Given the description of an element on the screen output the (x, y) to click on. 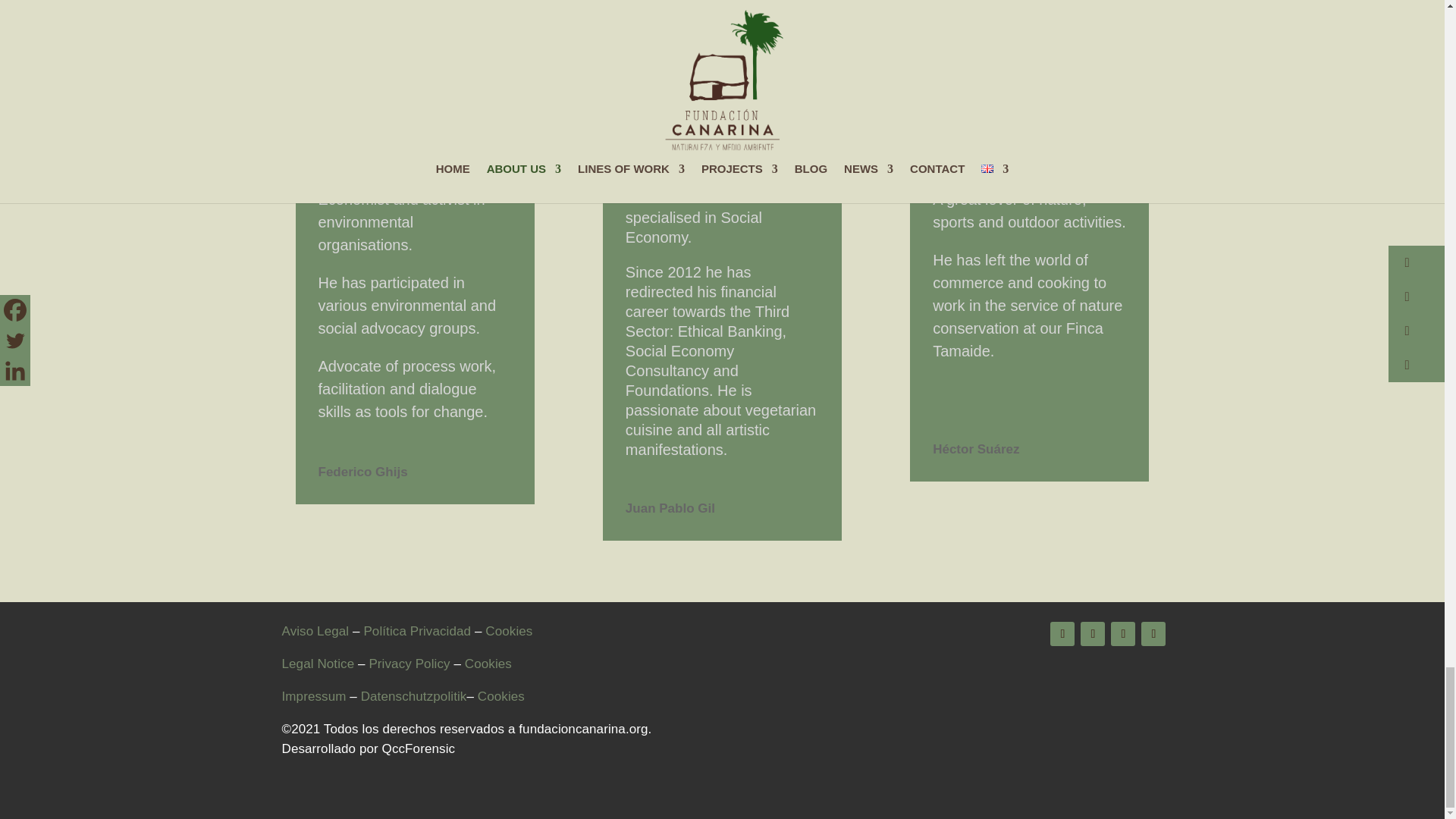
Cookies (508, 631)
Follow on Facebook (1061, 633)
Aviso Legal (315, 631)
Follow on LinkedIn (1153, 633)
Follow on Instagram (1122, 633)
Follow on X (1092, 633)
Legal Notice (318, 663)
